Given the description of an element on the screen output the (x, y) to click on. 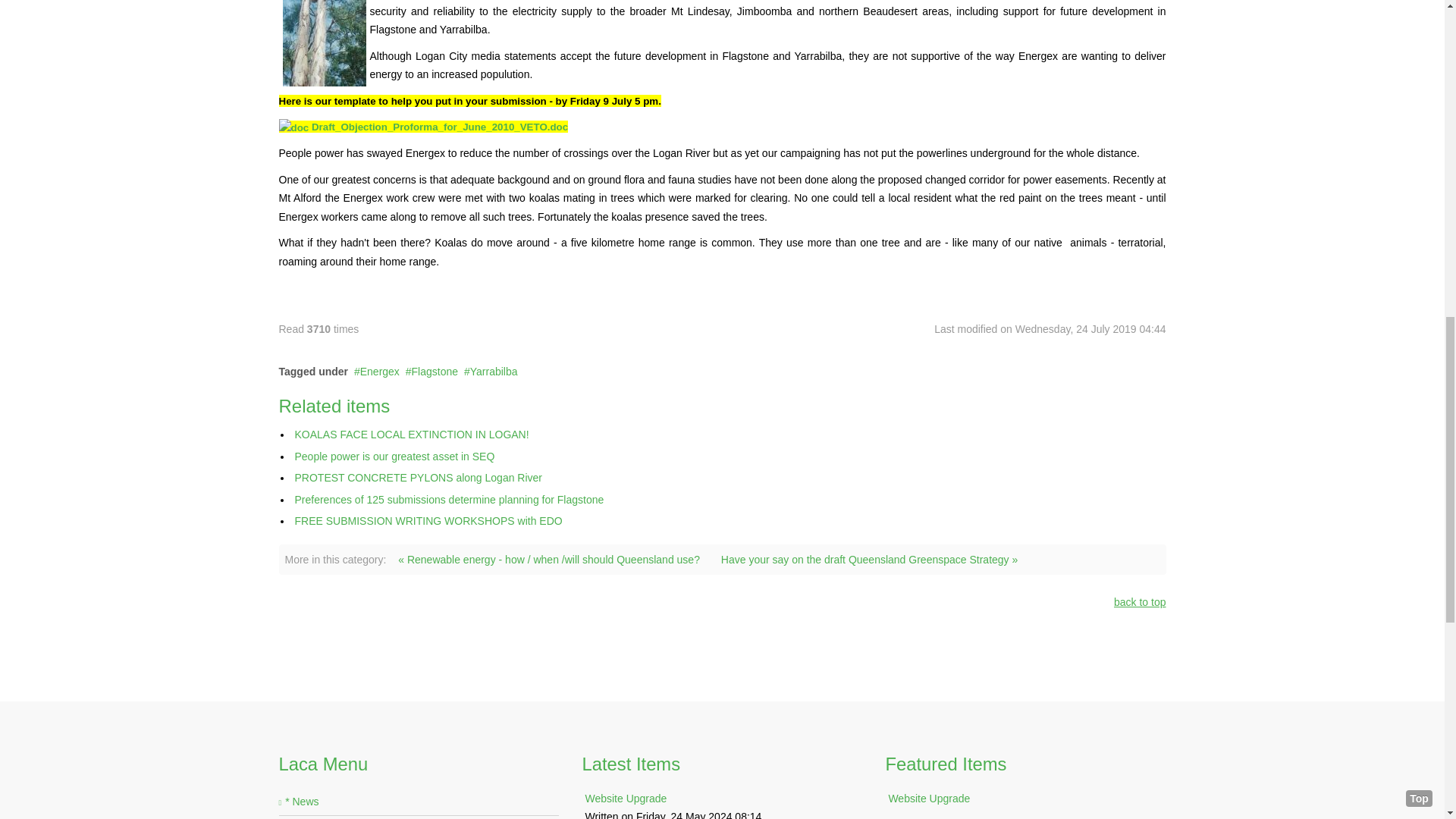
doc (293, 127)
